Given the description of an element on the screen output the (x, y) to click on. 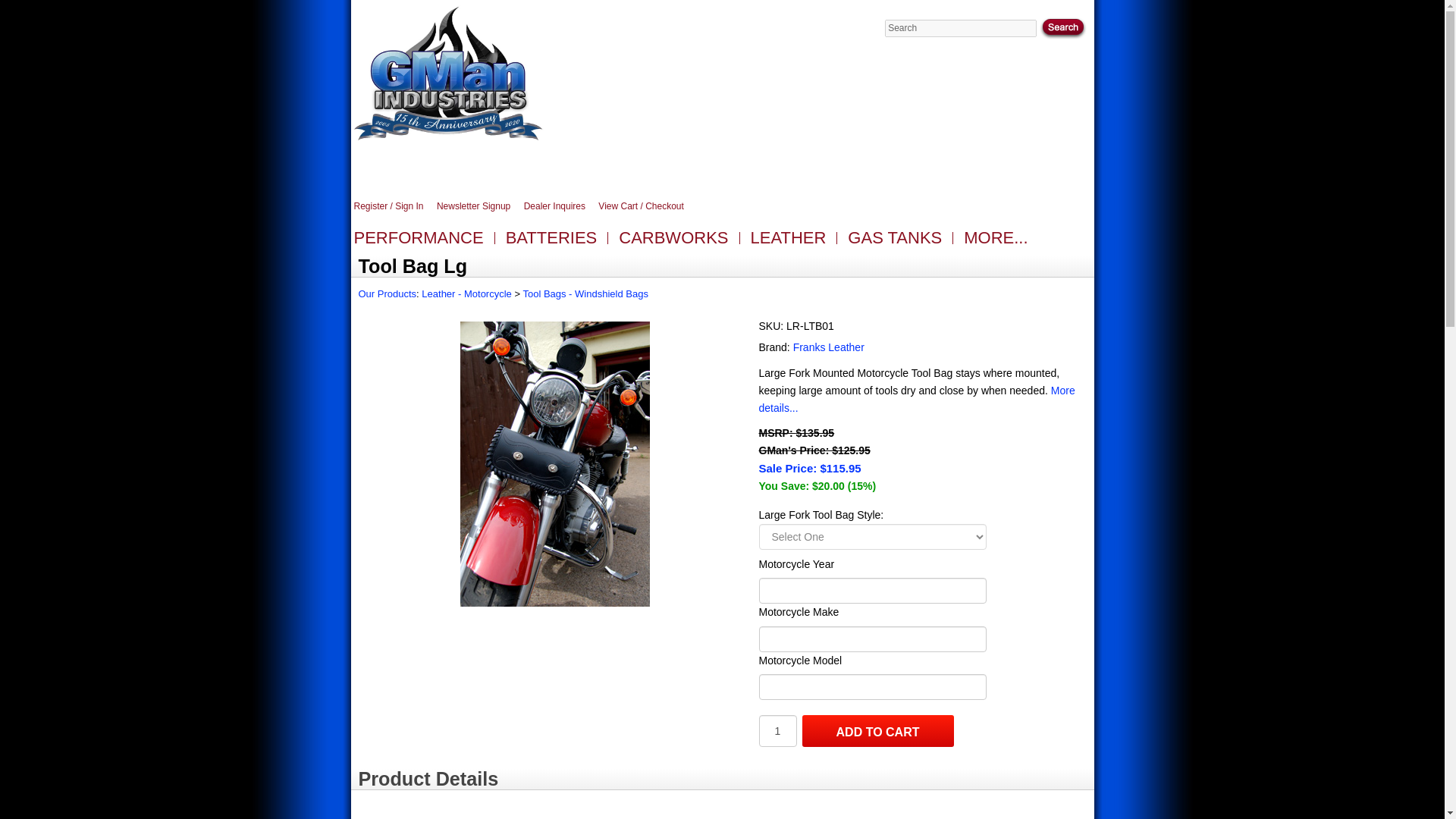
Dealer Inquires (559, 205)
CARBWORKS (673, 240)
1 (777, 730)
Newsletter Signup (478, 205)
PERFORMANCE (418, 240)
BATTERIES (550, 240)
Search (960, 27)
